Given the description of an element on the screen output the (x, y) to click on. 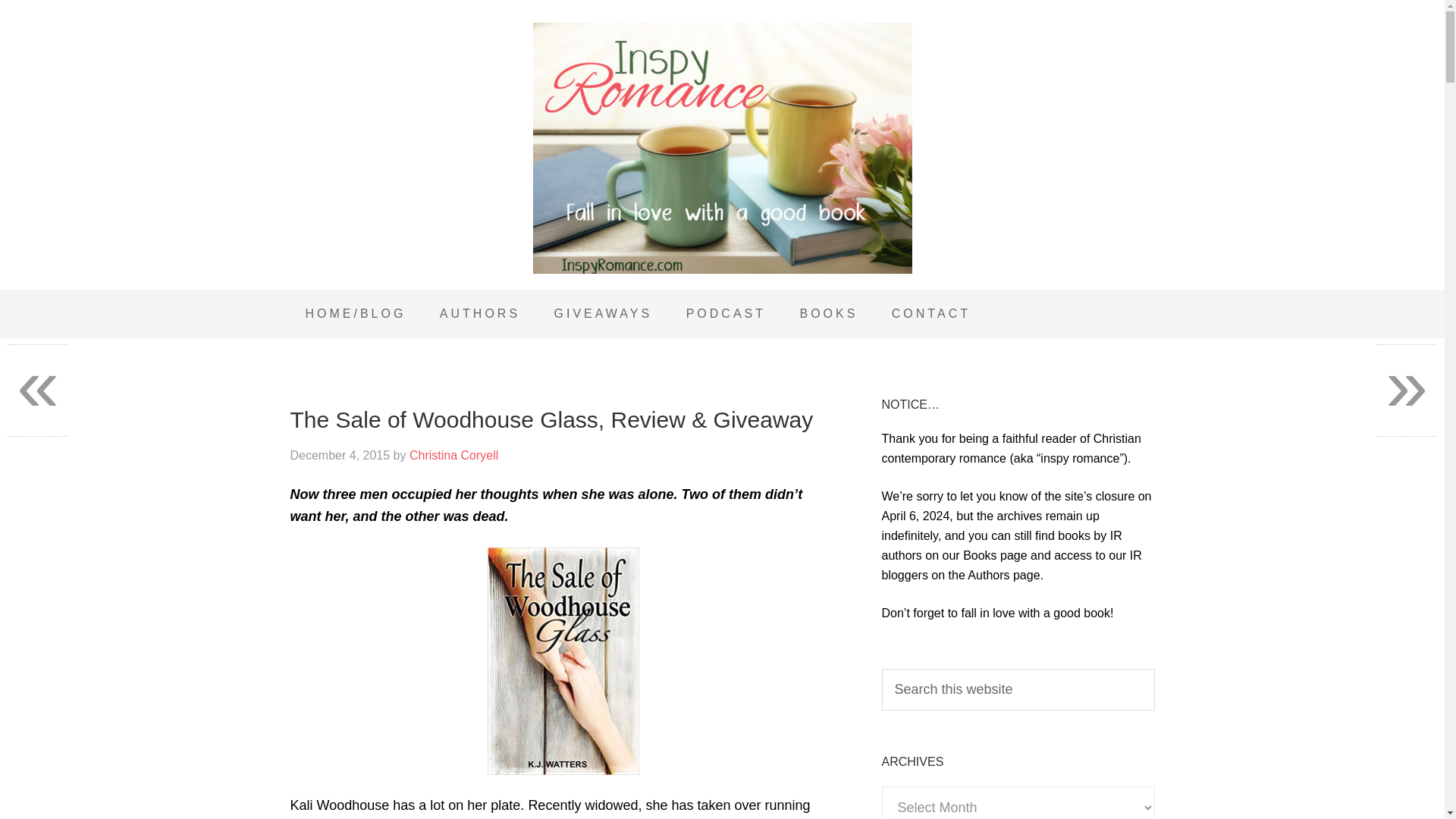
CONTACT (930, 313)
PODCAST (725, 313)
BOOKS (828, 313)
GIVEAWAYS (603, 313)
Christina Coryell (453, 454)
AUTHORS (480, 313)
